Given the description of an element on the screen output the (x, y) to click on. 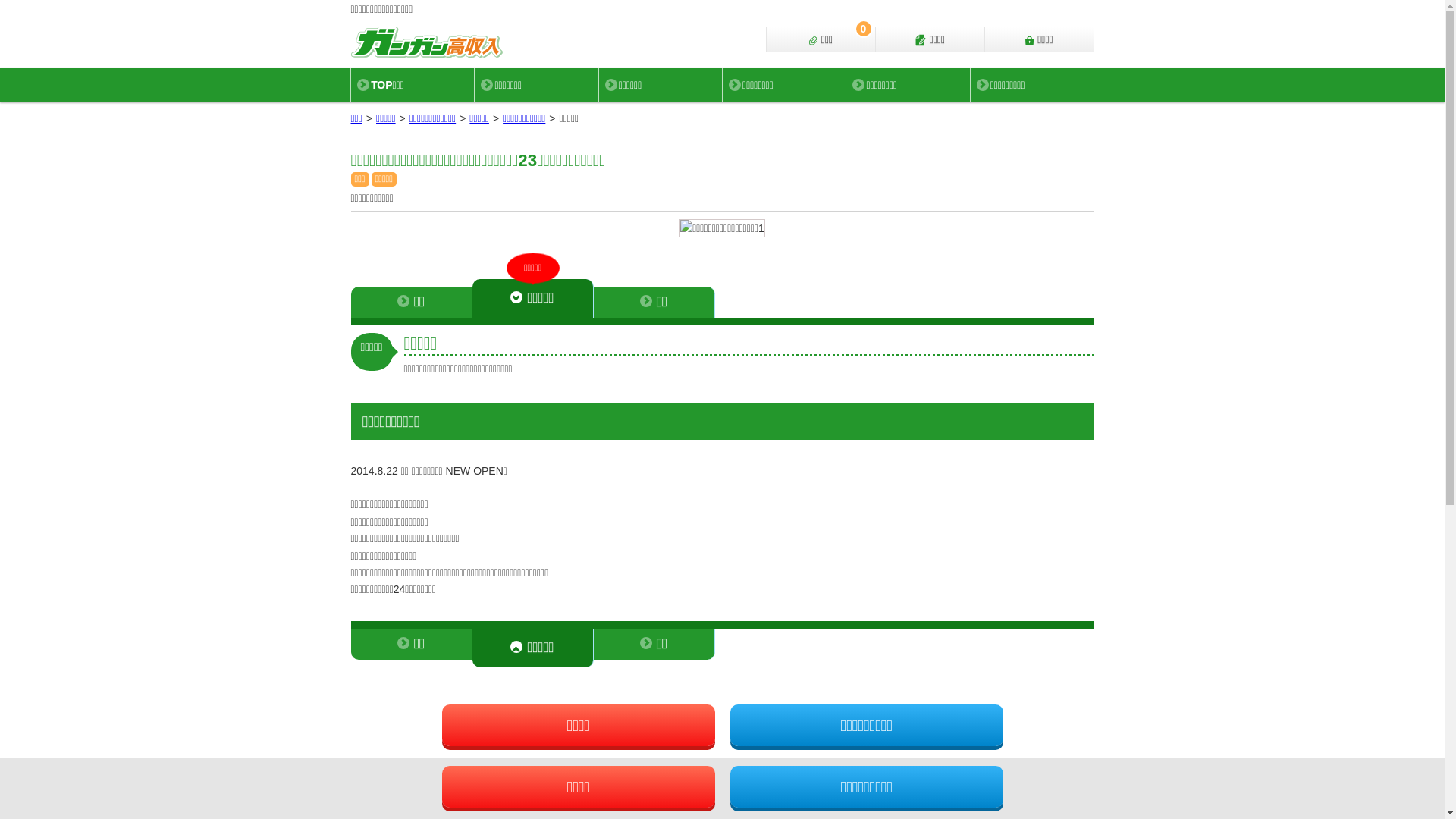
Tweet Element type: text (698, 773)
